Given the description of an element on the screen output the (x, y) to click on. 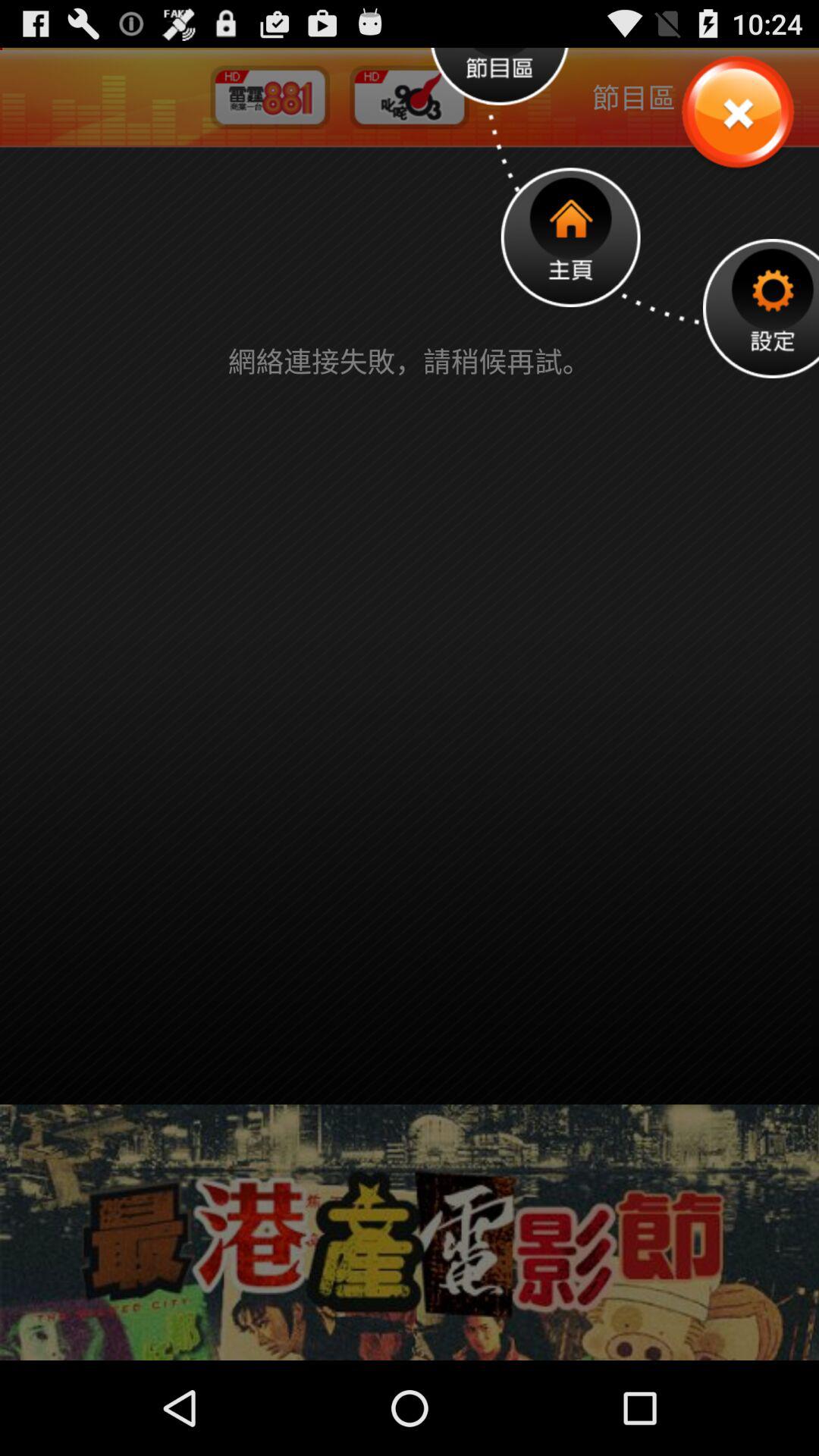
setting option (760, 308)
